Given the description of an element on the screen output the (x, y) to click on. 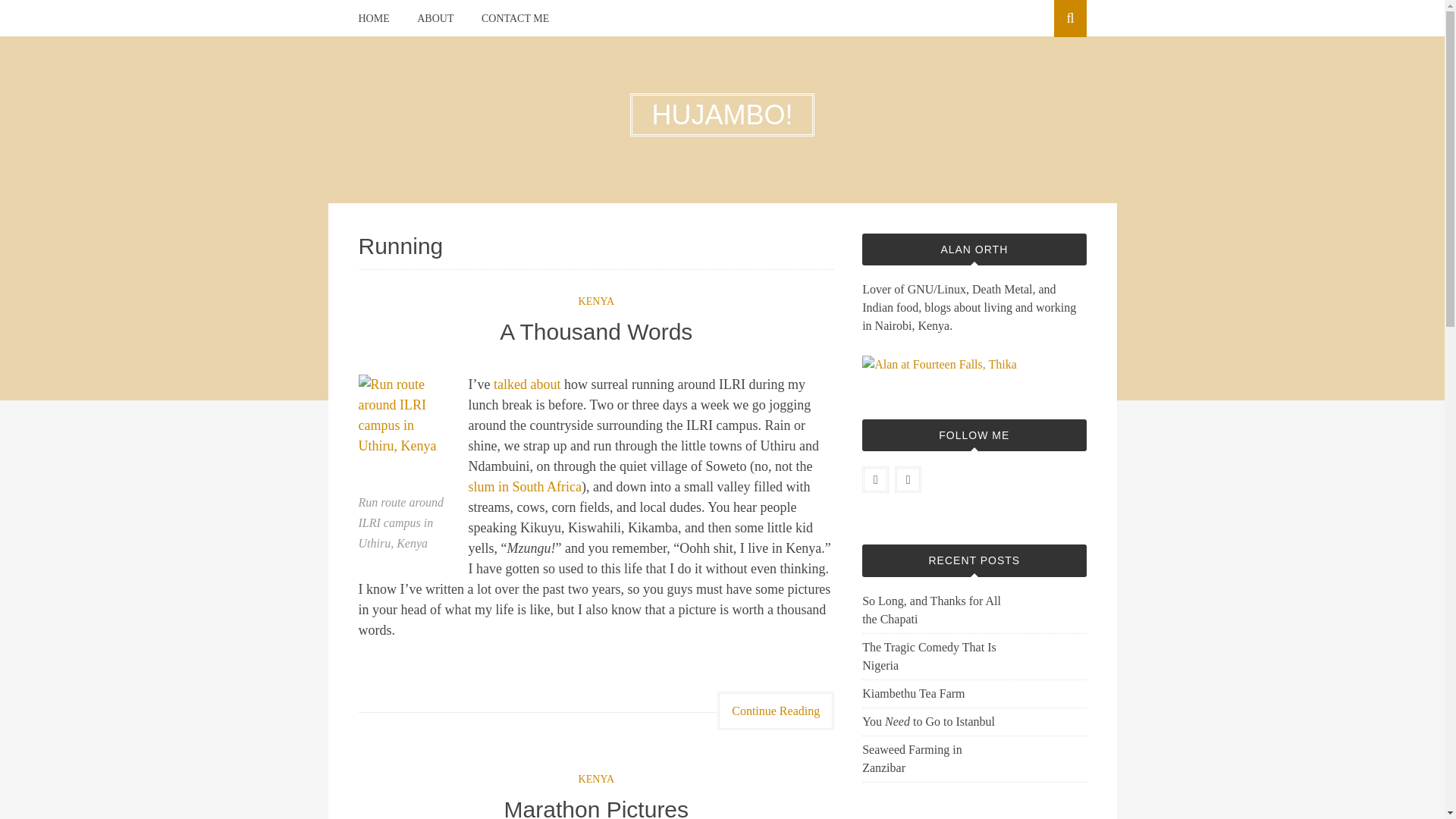
CONTACT ME (514, 18)
Nairobi Marathon (526, 383)
KENYA (596, 301)
The Tragic Comedy That Is Nigeria (934, 656)
talked about (526, 383)
KENYA (596, 778)
Soweto on Wikipedia (525, 486)
slum in South Africa (525, 486)
Continue Reading (775, 710)
You Need to Go to Istanbul (934, 721)
